Given the description of an element on the screen output the (x, y) to click on. 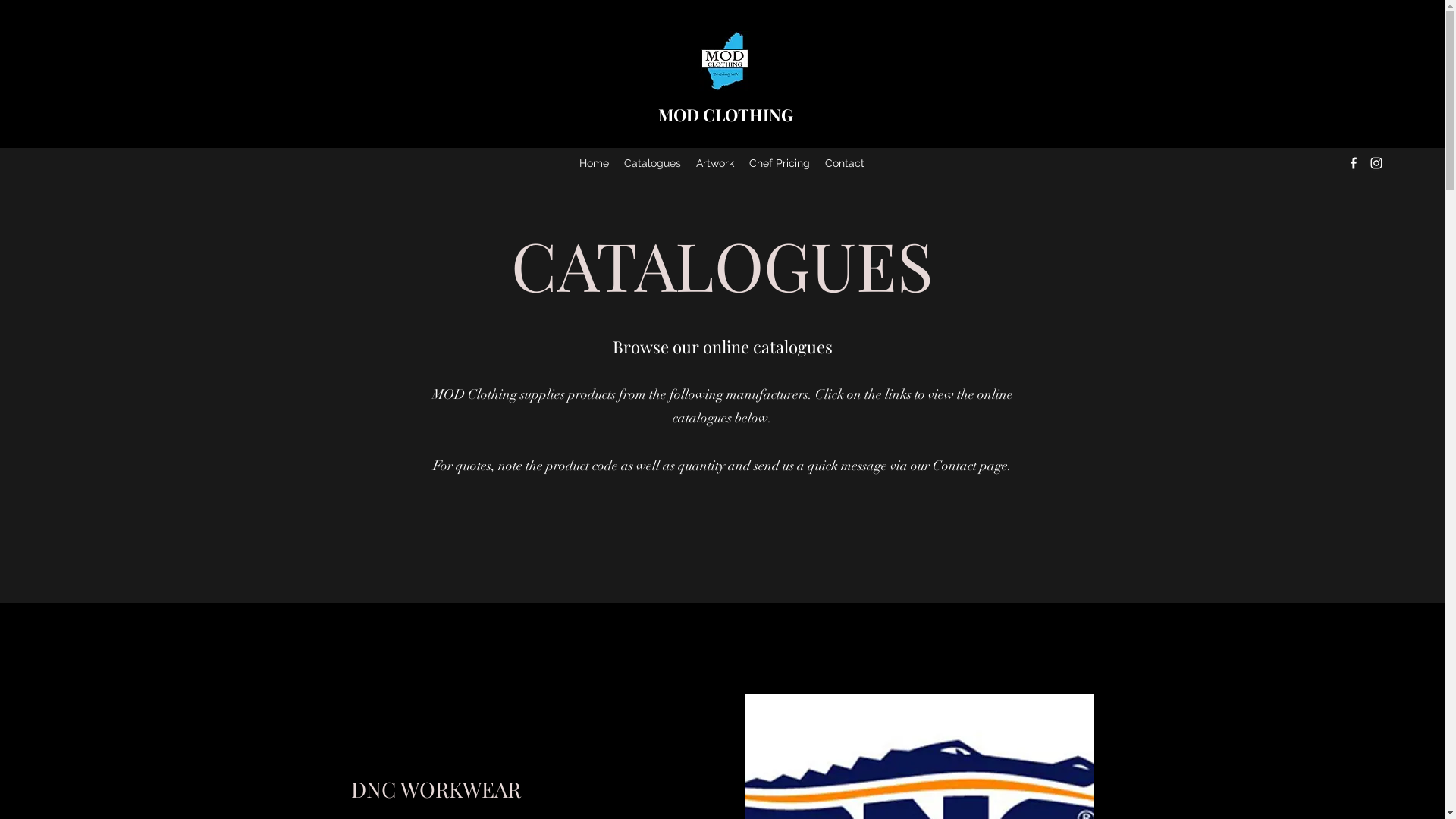
Home Element type: text (593, 162)
Contact Element type: text (844, 162)
Chef Pricing Element type: text (779, 162)
Catalogues Element type: text (652, 162)
Artwork Element type: text (714, 162)
MOD CLOTHING Element type: text (725, 114)
